Given the description of an element on the screen output the (x, y) to click on. 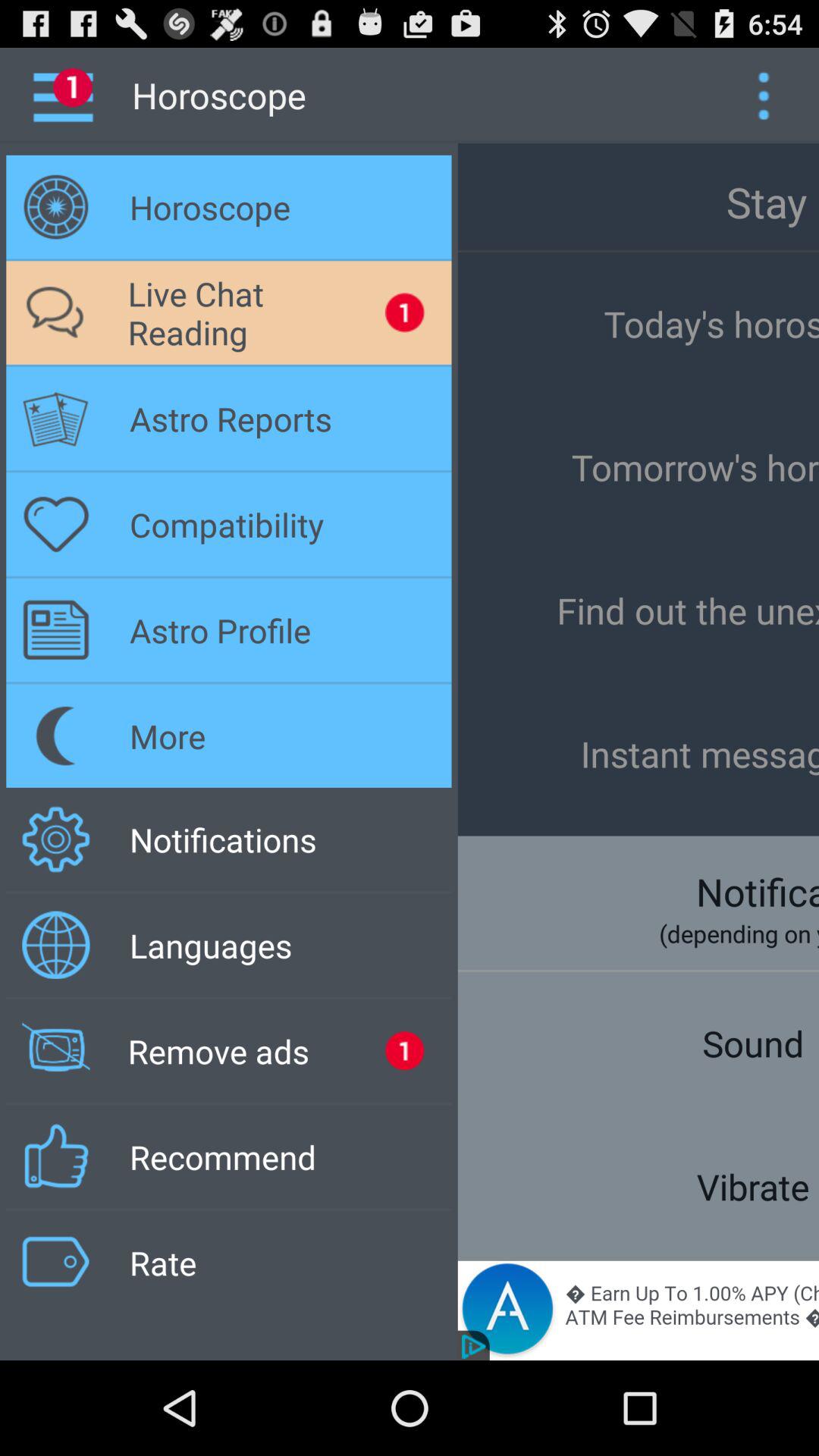
option (763, 95)
